Given the description of an element on the screen output the (x, y) to click on. 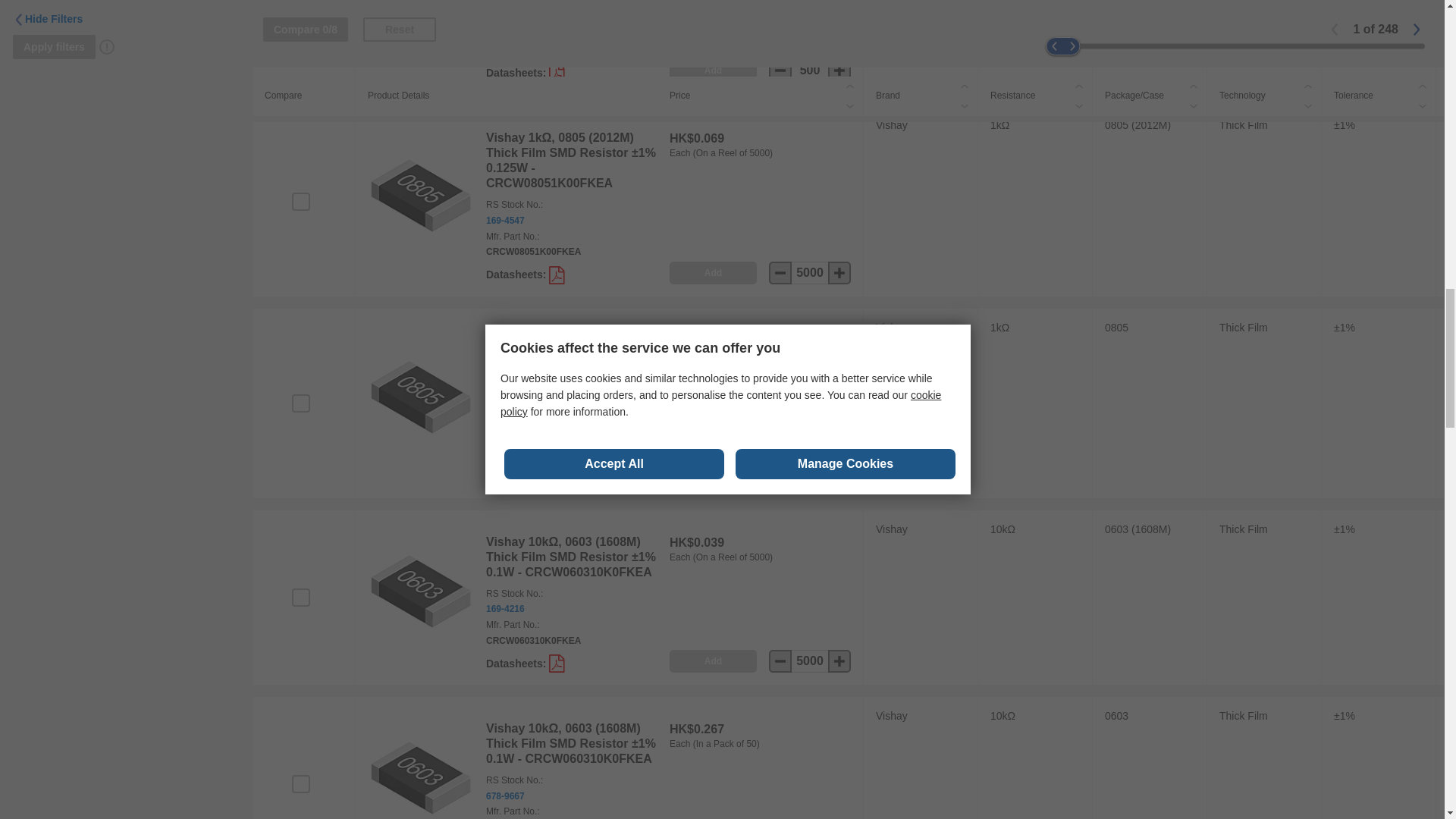
on (299, 402)
on (299, 597)
50 (810, 474)
5000 (810, 272)
on (299, 4)
on (299, 201)
500 (810, 69)
